Given the description of an element on the screen output the (x, y) to click on. 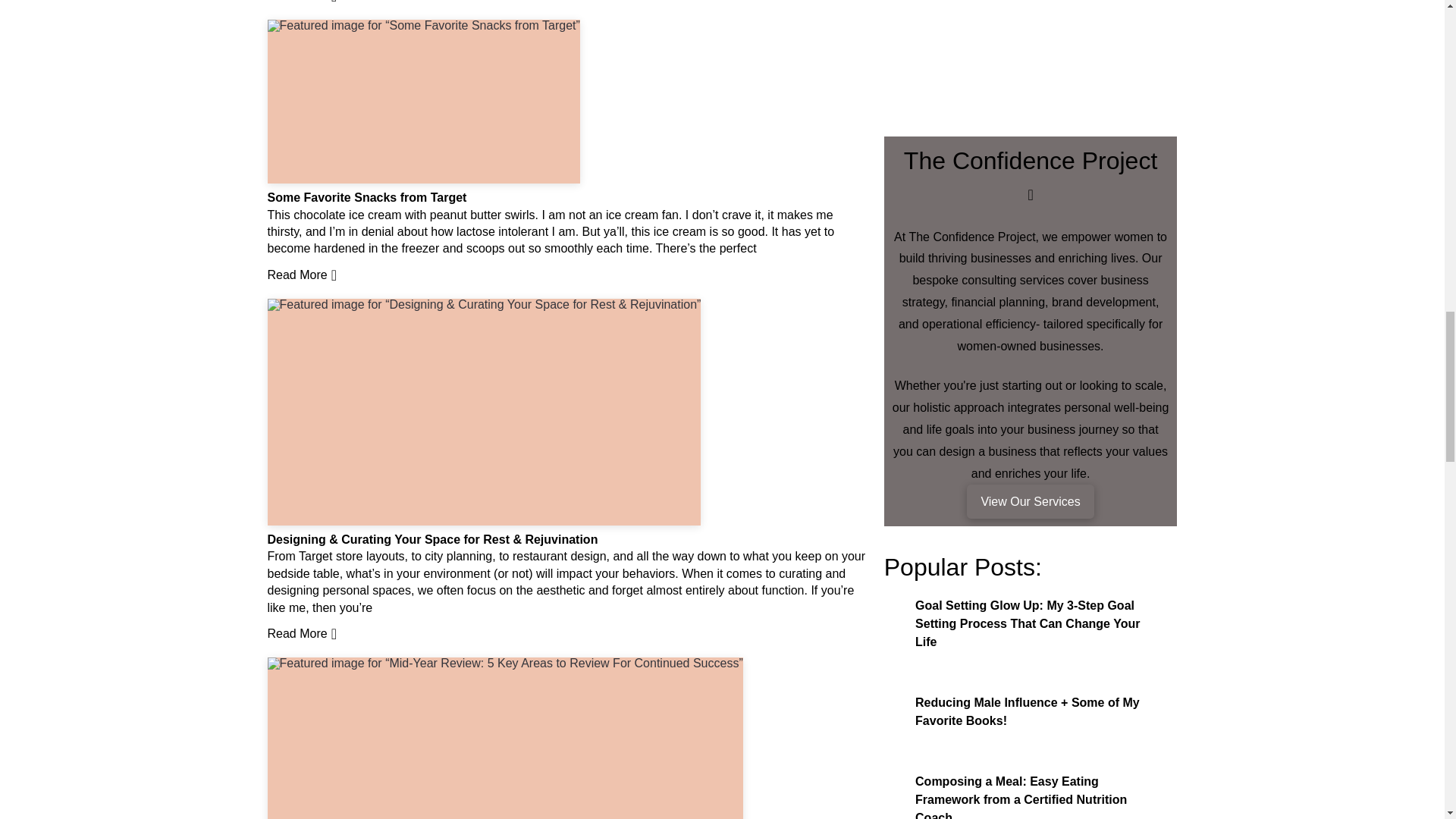
View Our Services (1030, 500)
